Given the description of an element on the screen output the (x, y) to click on. 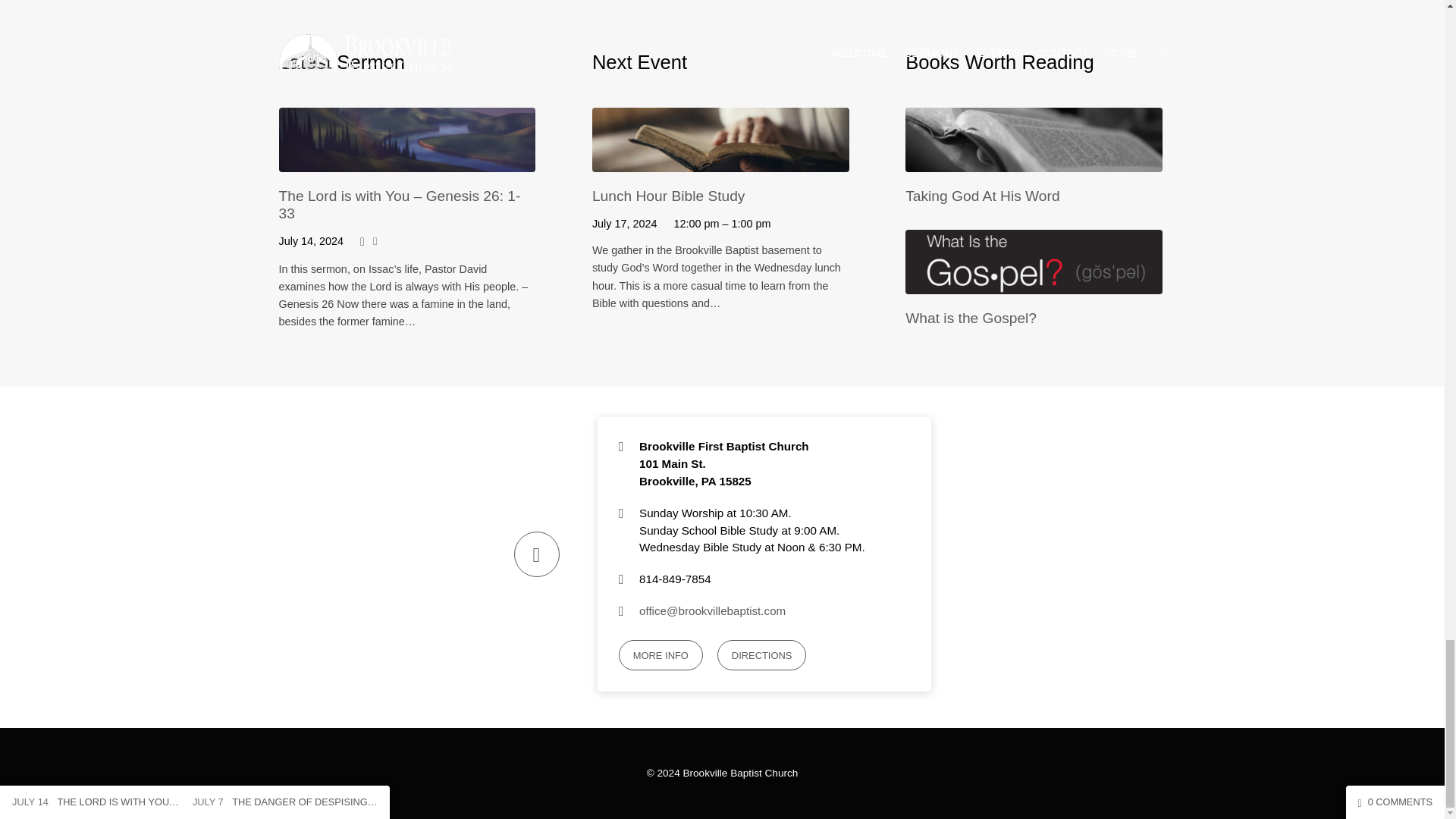
What is the Gospel? (1033, 282)
Lunch Hour Bible Study (720, 160)
Lunch Hour Bible Study (668, 195)
Taking God At His Word (1033, 160)
Taking God At His Word (982, 195)
What is the Gospel? (970, 317)
